Given the description of an element on the screen output the (x, y) to click on. 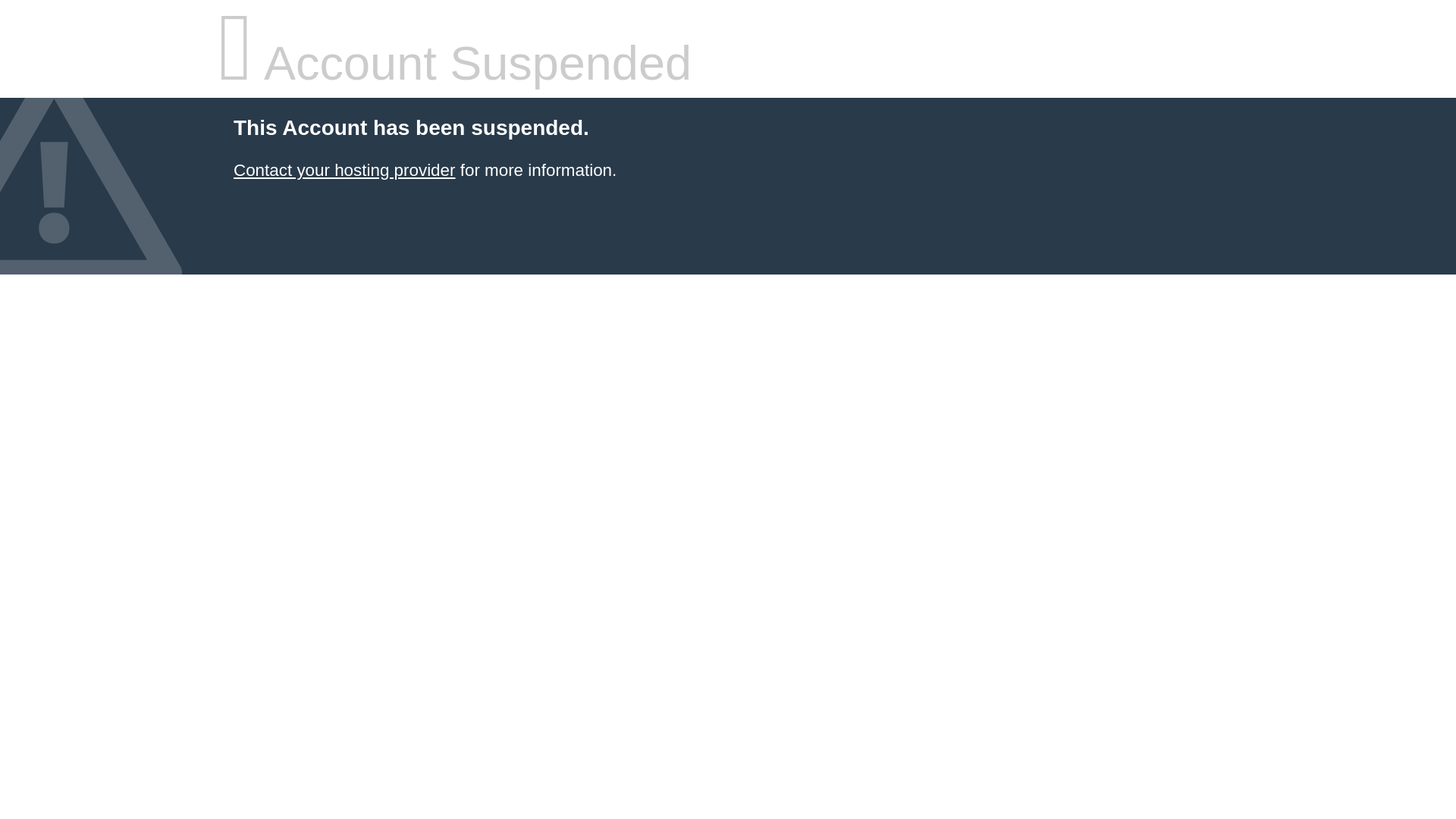
Contact your hosting provider (343, 169)
